Given the description of an element on the screen output the (x, y) to click on. 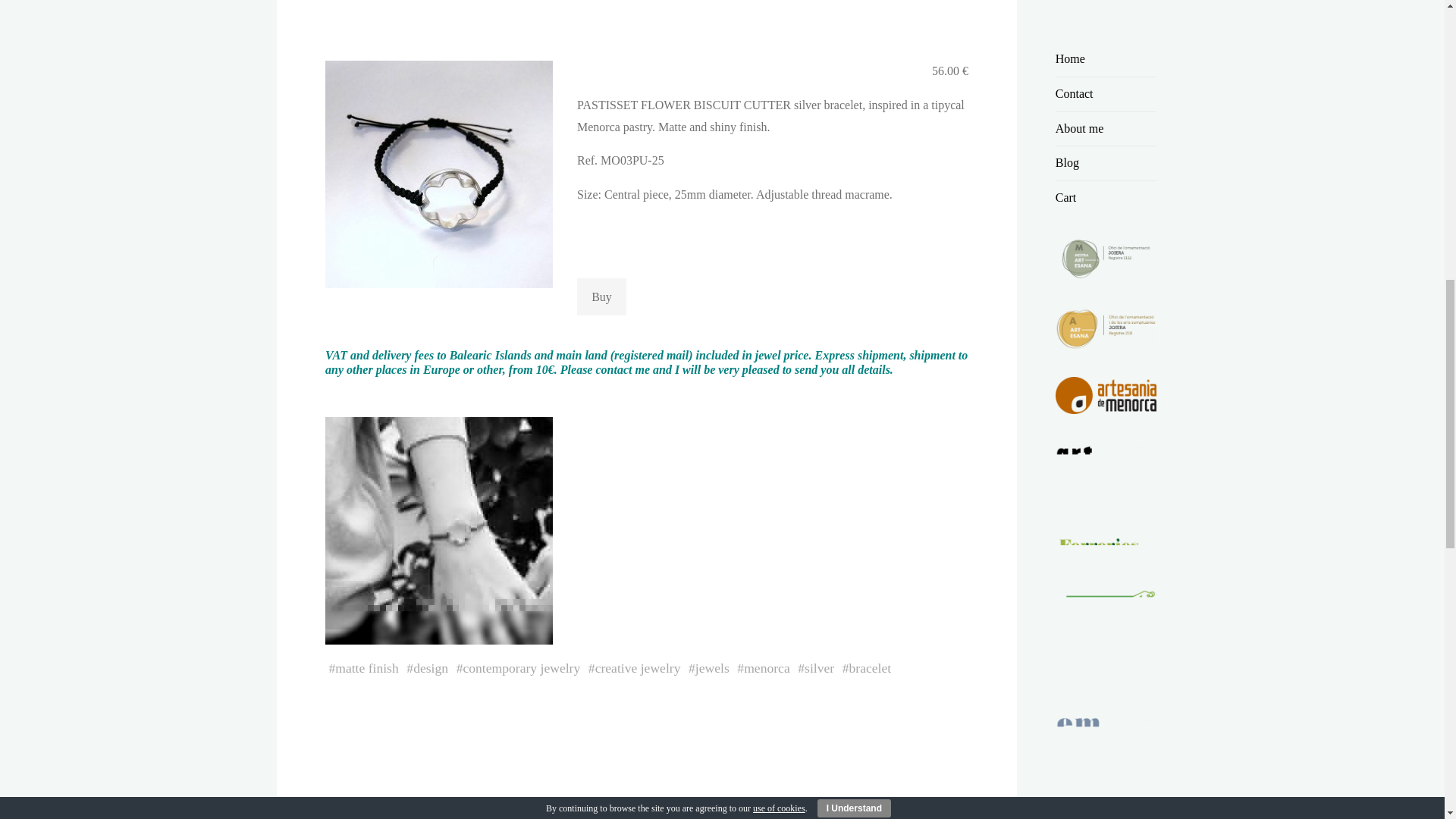
Cart (1066, 196)
contemporary jewelry (521, 667)
Buy (601, 296)
matte finish (366, 667)
Contact (1074, 92)
creative jewelry (636, 667)
About me (1079, 128)
Home (1069, 58)
jewels (711, 667)
menorca (767, 667)
bracelet (869, 667)
Buy (601, 296)
silver (819, 667)
Blog (1066, 162)
design (430, 667)
